Given the description of an element on the screen output the (x, y) to click on. 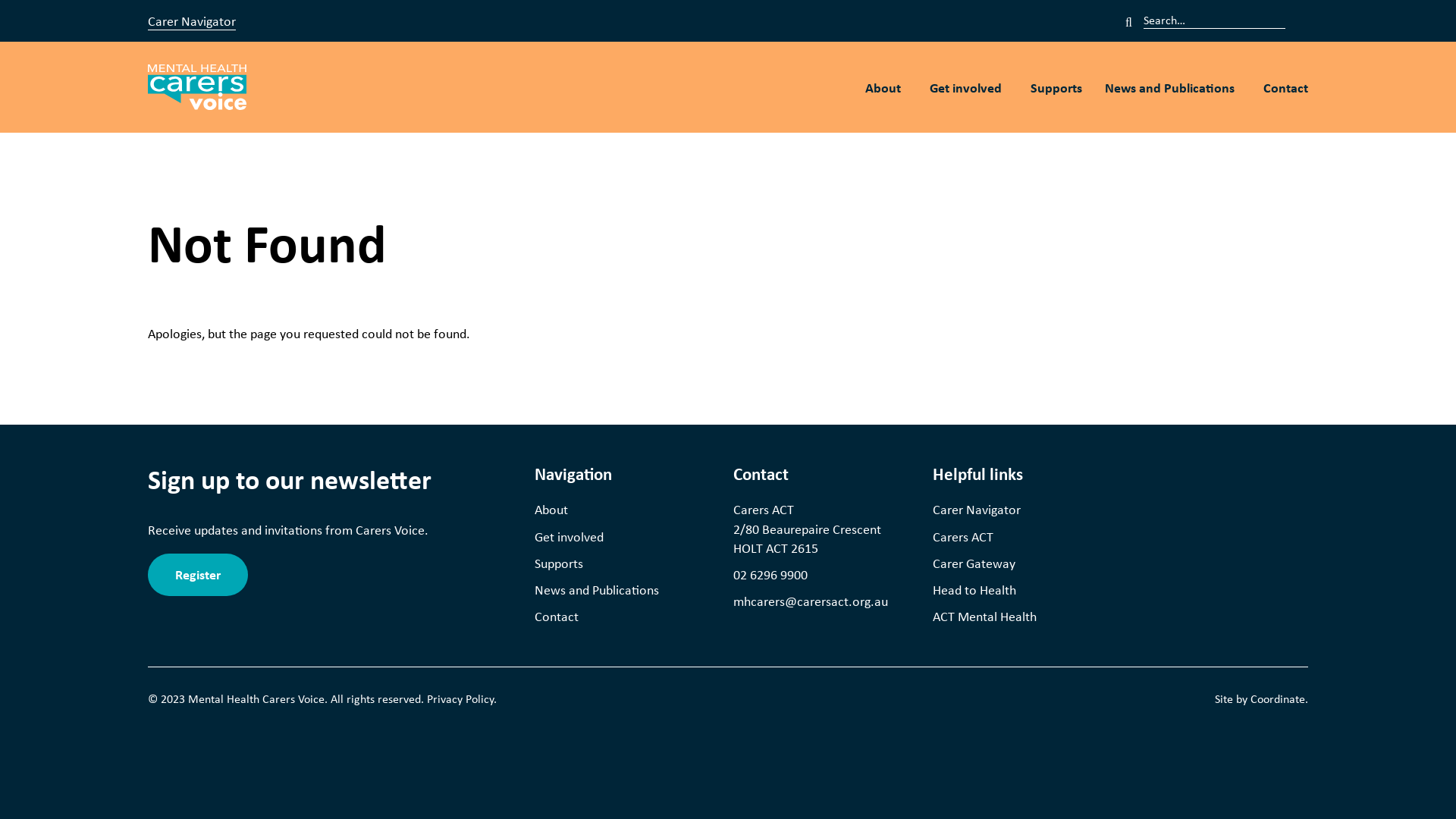
Carer Gateway Element type: text (1020, 562)
mhcarers@carersact.org.au Element type: text (810, 600)
Contact Element type: text (1285, 86)
News and Publications Element type: text (622, 589)
Carer Navigator Element type: text (191, 20)
Head to Health Element type: text (1020, 589)
Coordinate Element type: text (1277, 698)
Supports Element type: text (622, 562)
News and Publications Element type: text (1172, 87)
Get involved Element type: text (968, 87)
Register Element type: text (197, 574)
About Element type: text (622, 508)
ACT Mental Health Element type: text (1020, 615)
02 6296 9900 Element type: text (770, 573)
Supports Element type: text (1056, 86)
About Element type: text (885, 87)
Carer Navigator Element type: text (1020, 508)
Privacy Policy Element type: text (459, 698)
Get involved Element type: text (622, 536)
Carers ACT Element type: text (1020, 536)
Mental Health Carers Voice Element type: text (196, 86)
Contact Element type: text (622, 615)
